Given the description of an element on the screen output the (x, y) to click on. 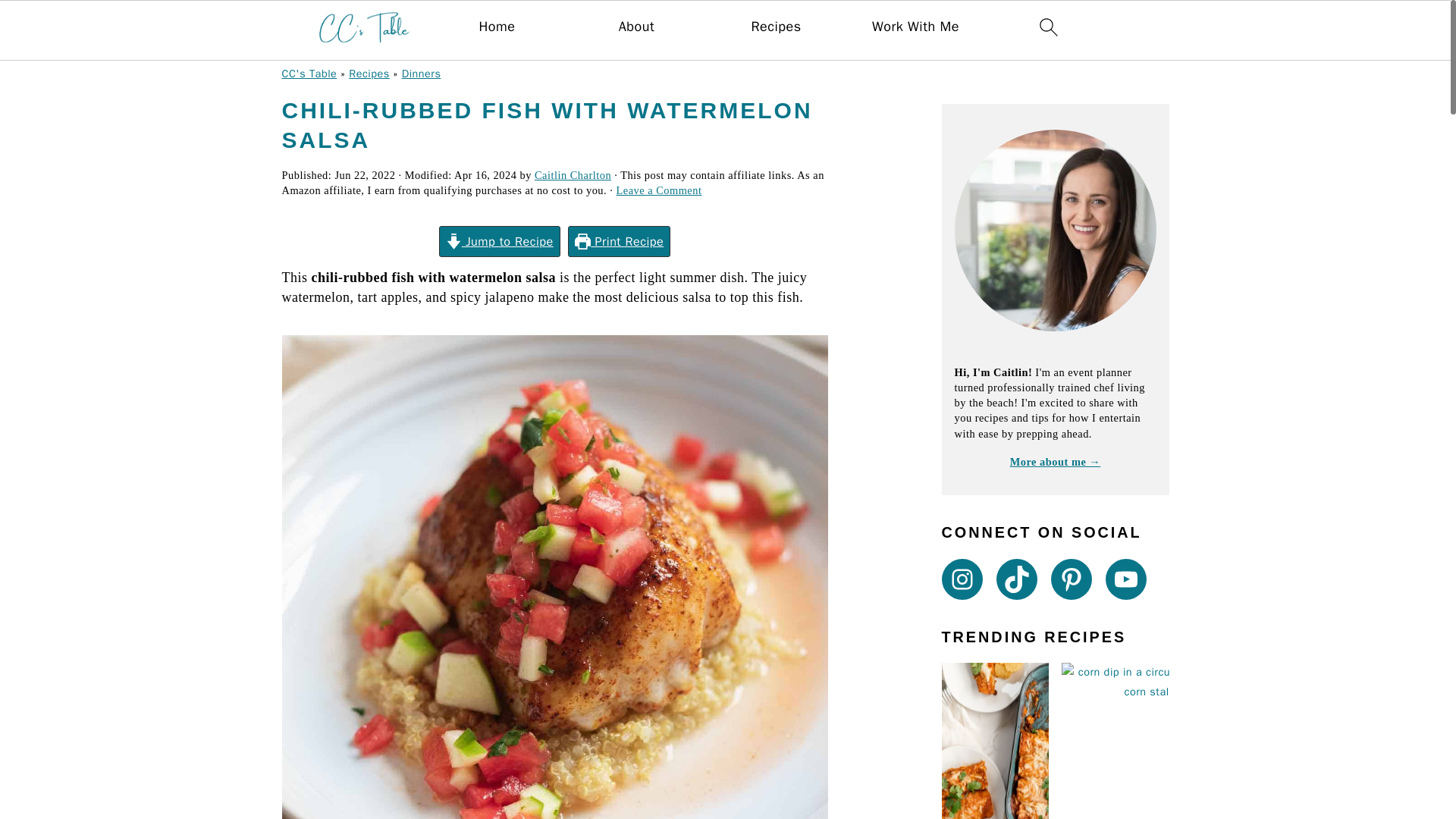
About (635, 27)
Work With Me (915, 27)
CC's Table (309, 73)
search icon (1048, 26)
Home (497, 27)
Recipes (775, 27)
